Given the description of an element on the screen output the (x, y) to click on. 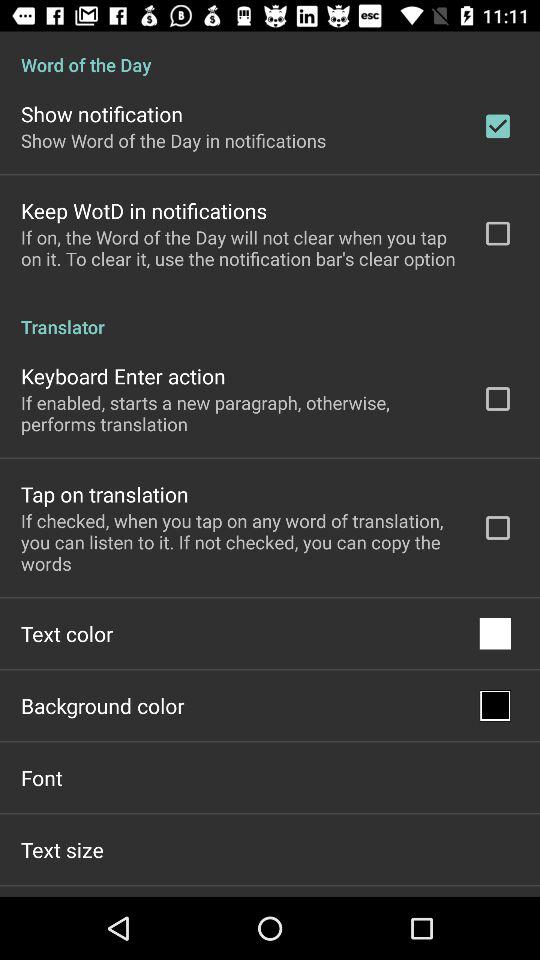
open the app above the text size item (41, 777)
